Given the description of an element on the screen output the (x, y) to click on. 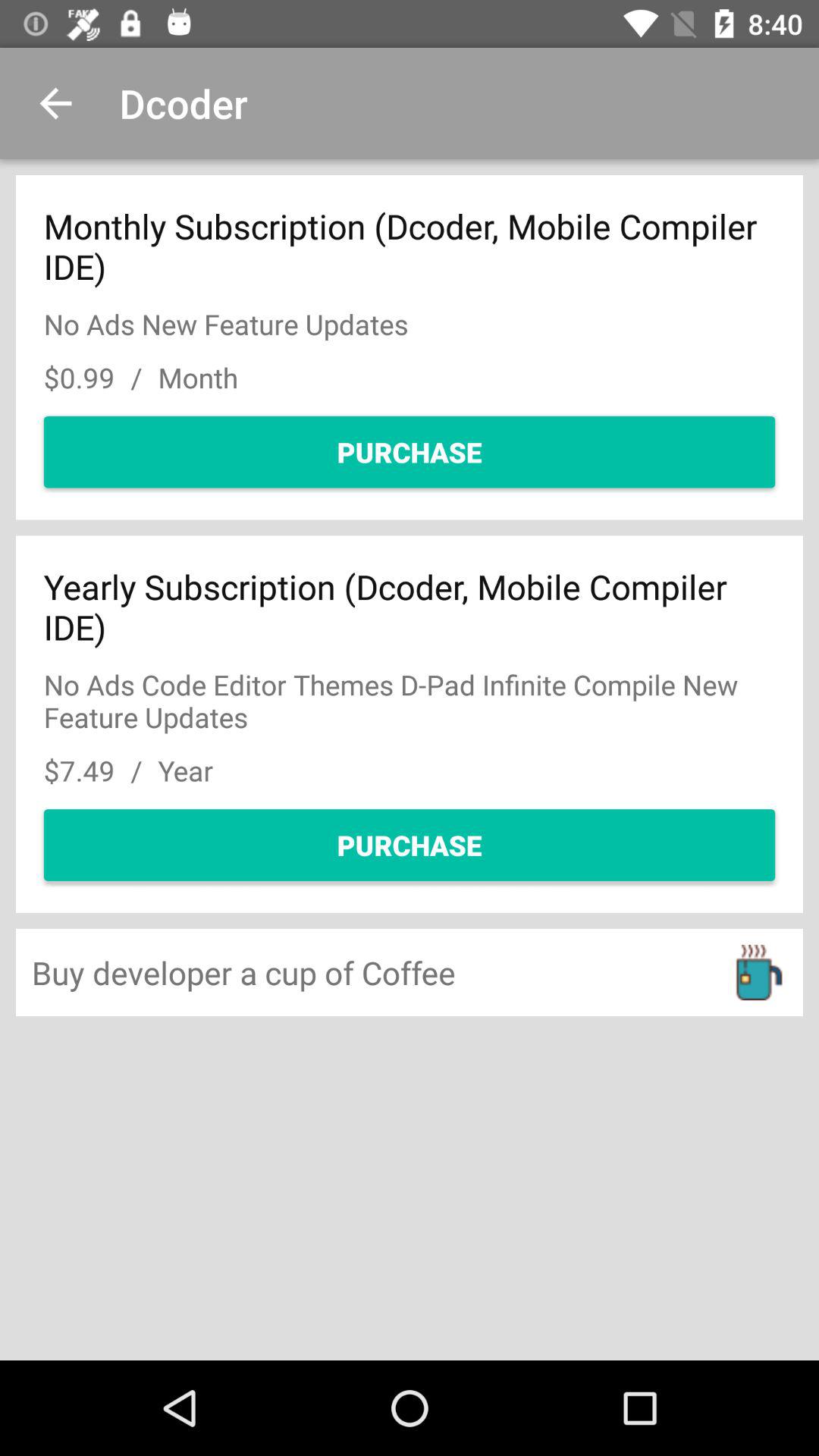
tap item to the left of the dcoder icon (55, 103)
